Given the description of an element on the screen output the (x, y) to click on. 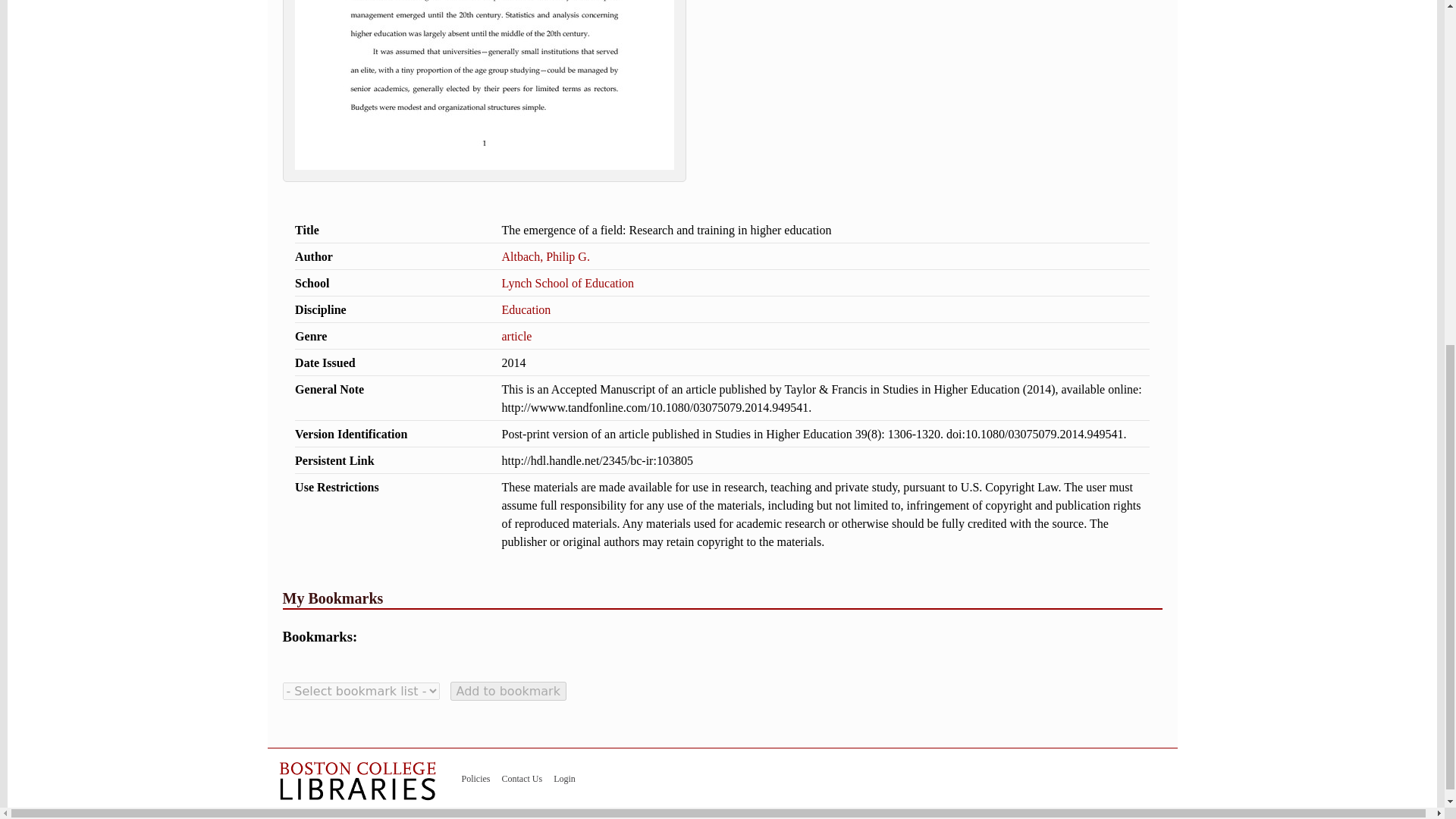
Add to bookmark (507, 691)
Add to bookmark (507, 691)
Altbach, Philip G. (544, 256)
article (515, 336)
Education (525, 309)
Policies (475, 778)
Contact Us (522, 778)
Lynch School of Education (566, 282)
Login (564, 778)
PDF Datastream (483, 177)
